Given the description of an element on the screen output the (x, y) to click on. 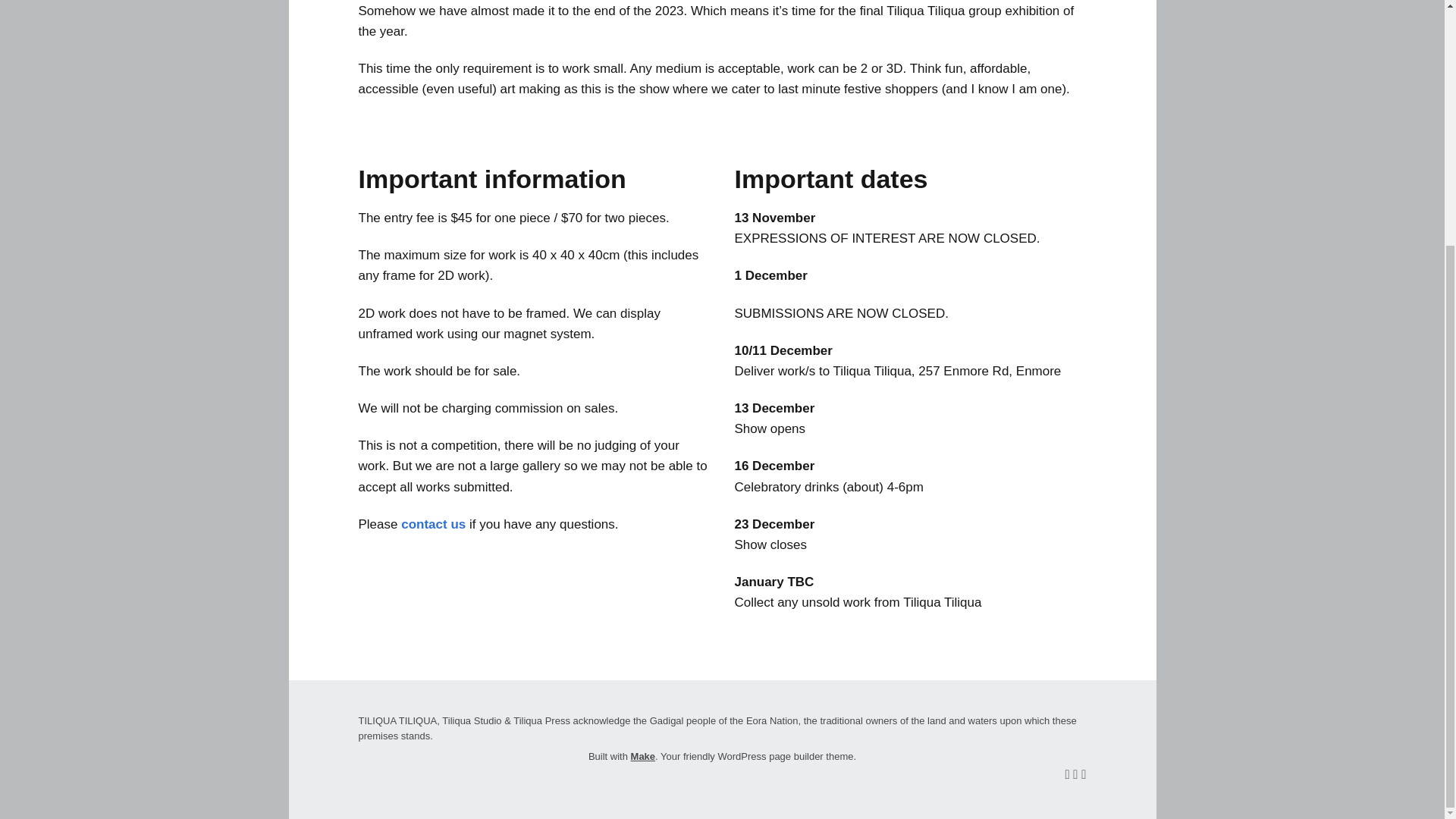
Make (643, 756)
contact us (433, 523)
